Given the description of an element on the screen output the (x, y) to click on. 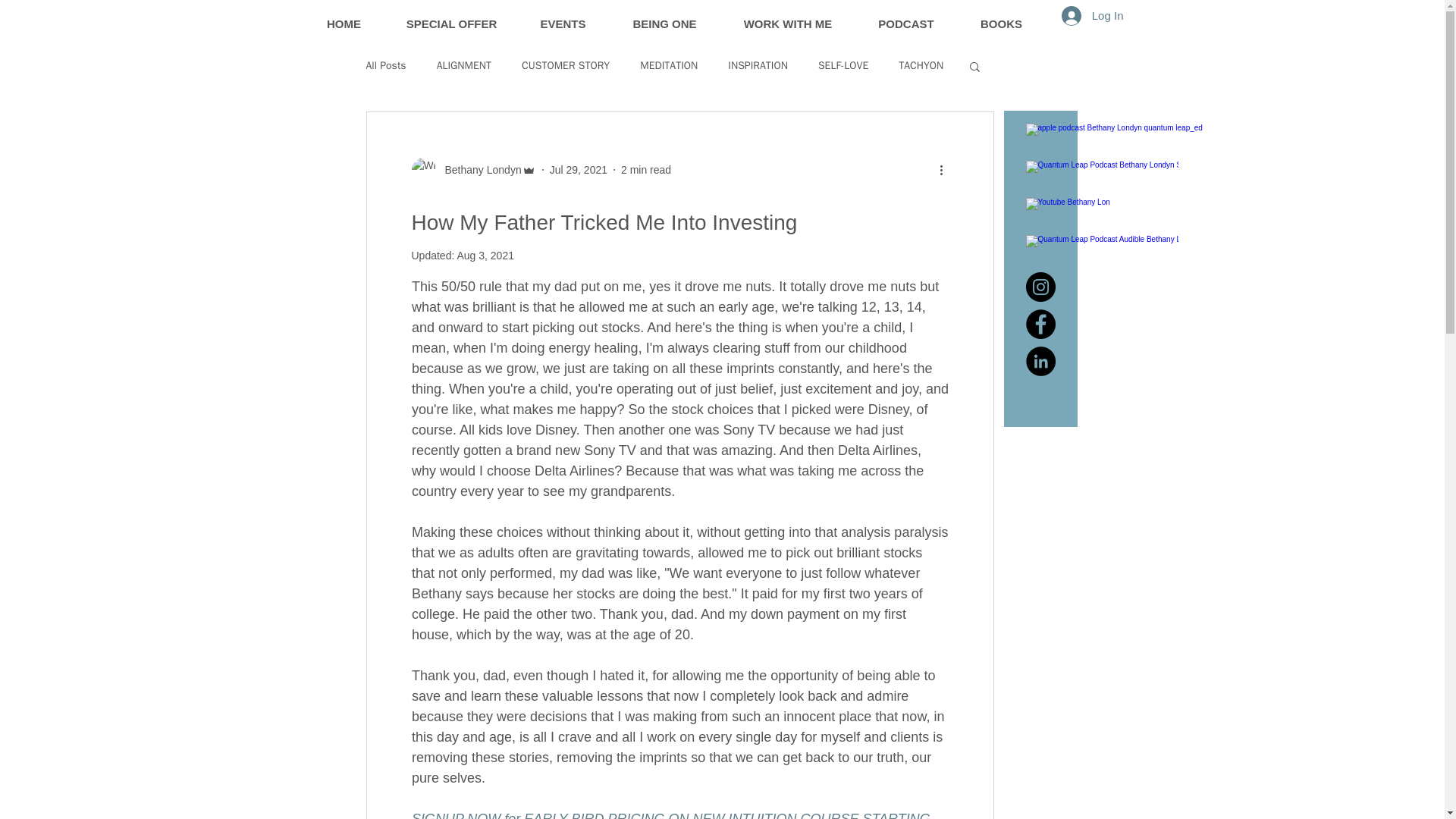
BEING ONE (664, 17)
MEDITATION (668, 65)
Aug 3, 2021 (485, 255)
Jul 29, 2021 (578, 169)
BOOKS (1000, 17)
ALIGNMENT (464, 65)
PODCAST (907, 17)
2 min read (646, 169)
HOME (343, 17)
Bethany Londyn (478, 170)
